Given the description of an element on the screen output the (x, y) to click on. 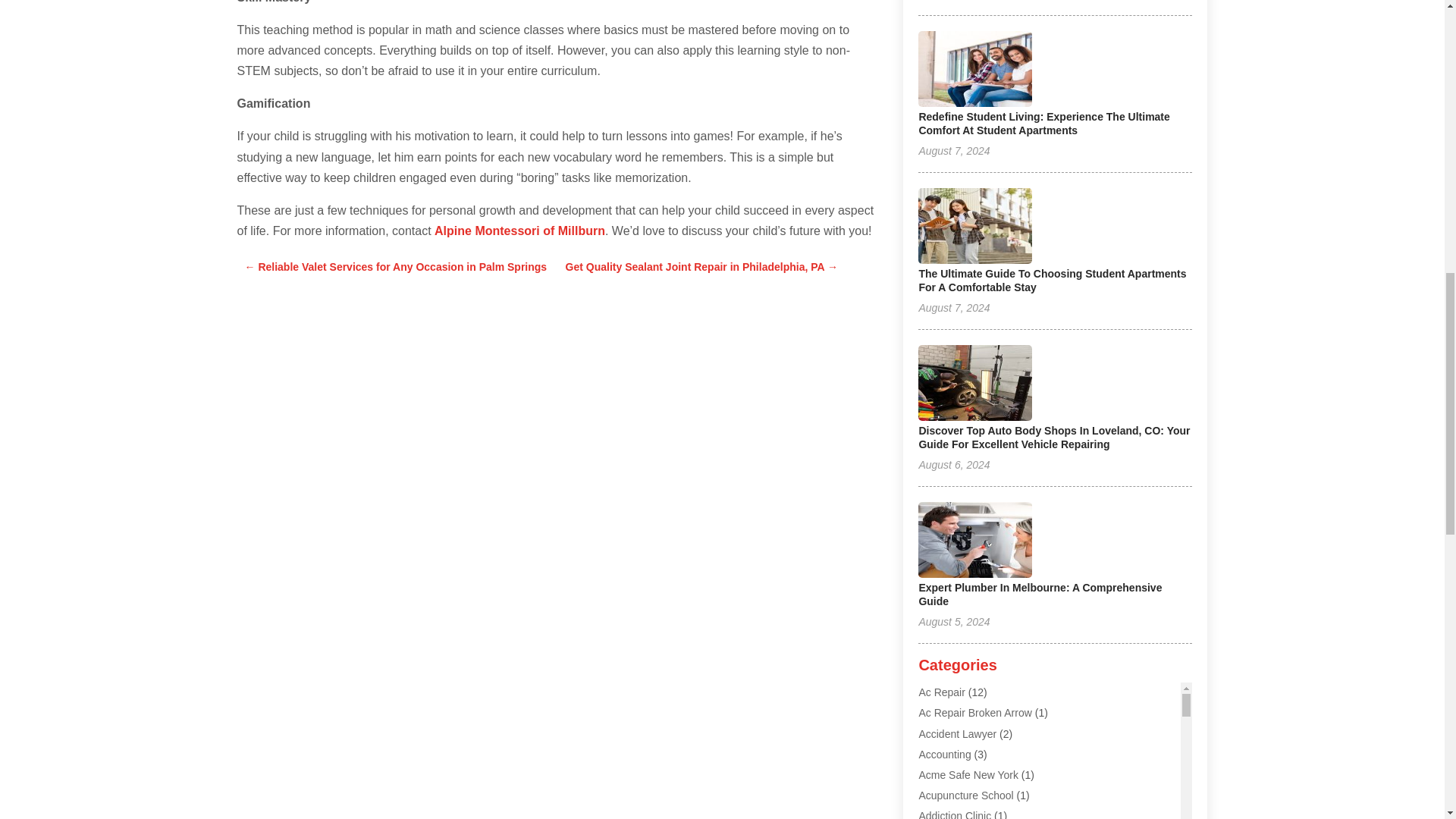
Ac Repair (940, 692)
Acme Safe New York (967, 775)
Accident Lawyer (956, 734)
Accounting (944, 754)
Ac Repair Broken Arrow (974, 712)
Alpine Montessori of Millburn (519, 230)
Expert Plumber In Melbourne: A Comprehensive Guide (1039, 594)
